Given the description of an element on the screen output the (x, y) to click on. 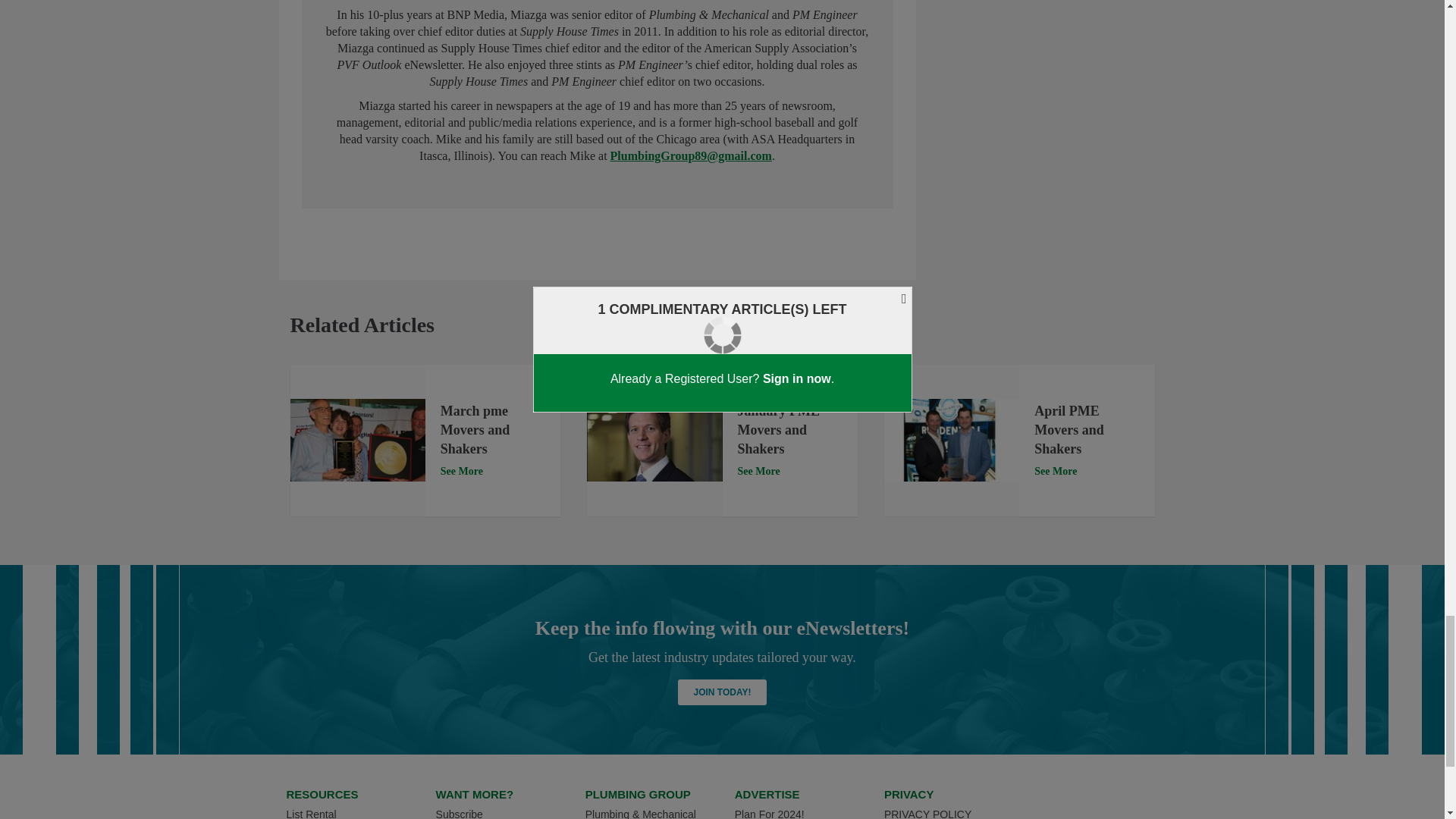
Fresh-Aire UV (951, 439)
Lusardi (654, 439)
